Given the description of an element on the screen output the (x, y) to click on. 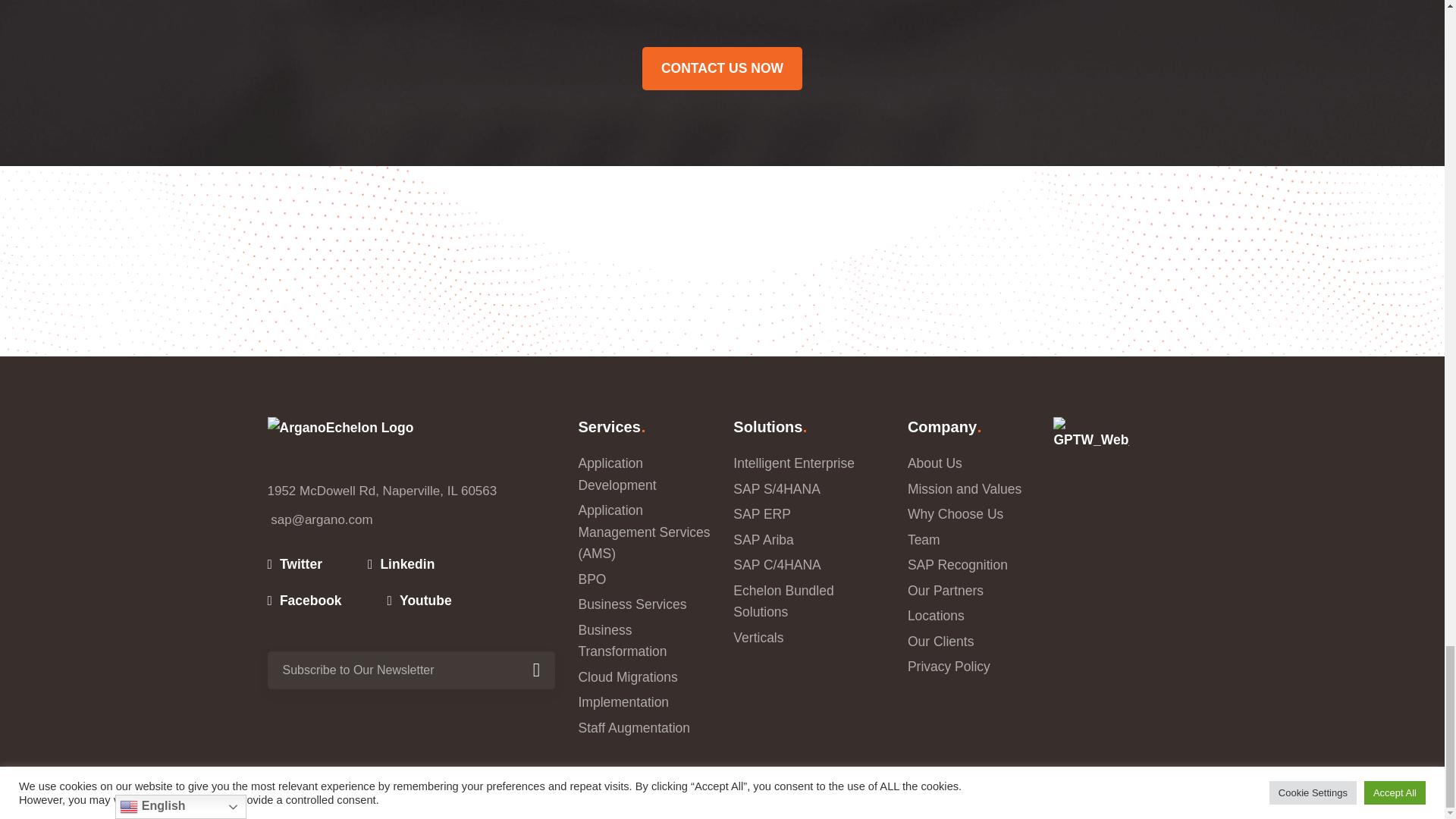
Send (535, 670)
